Given the description of an element on the screen output the (x, y) to click on. 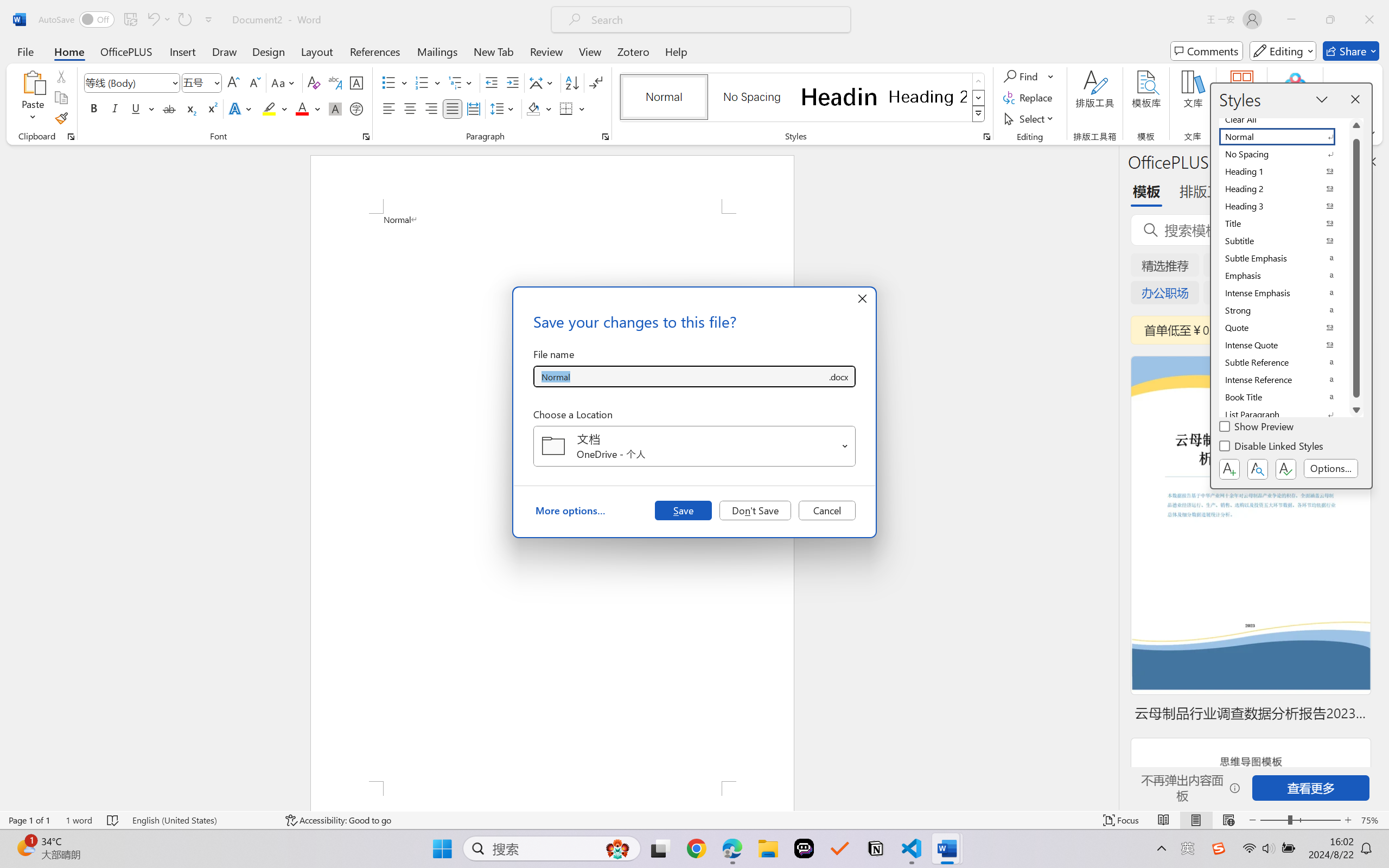
Bullets (395, 82)
Close (1369, 19)
Design (268, 51)
Multilevel List (461, 82)
Line and Paragraph Spacing (503, 108)
View (589, 51)
Web Layout (1228, 819)
Help (675, 51)
Quote (1283, 327)
Align Left (388, 108)
Open (844, 446)
Spelling and Grammar Check No Errors (113, 819)
